Given the description of an element on the screen output the (x, y) to click on. 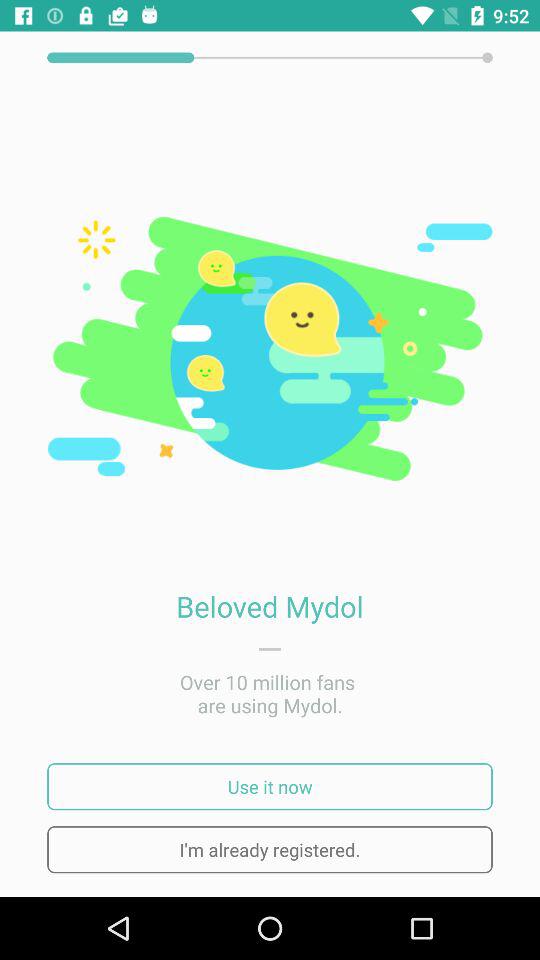
open the item above the i m already (269, 786)
